Given the description of an element on the screen output the (x, y) to click on. 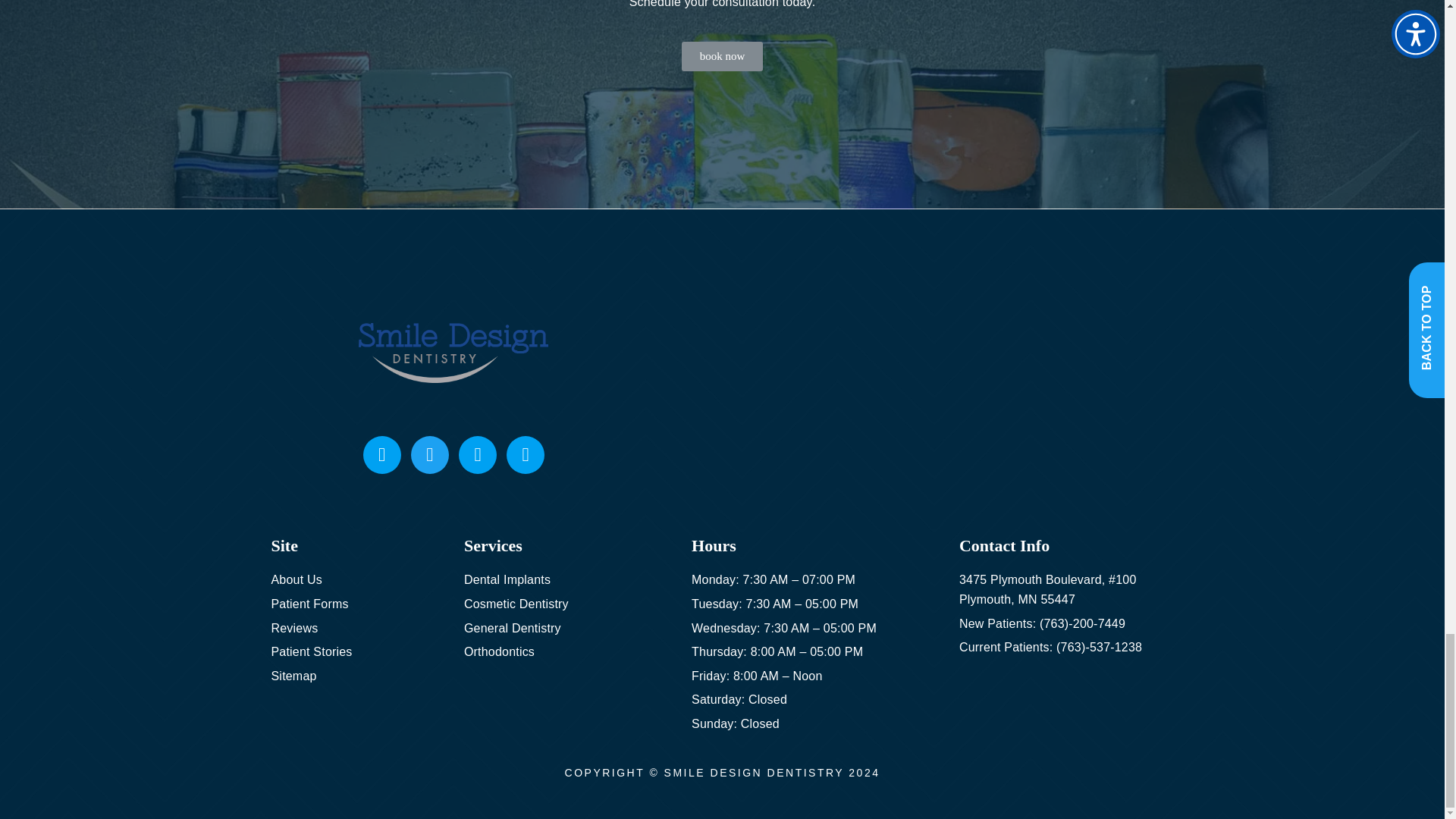
Smile Design Dentistry, Plymouth, MN (885, 398)
